Given the description of an element on the screen output the (x, y) to click on. 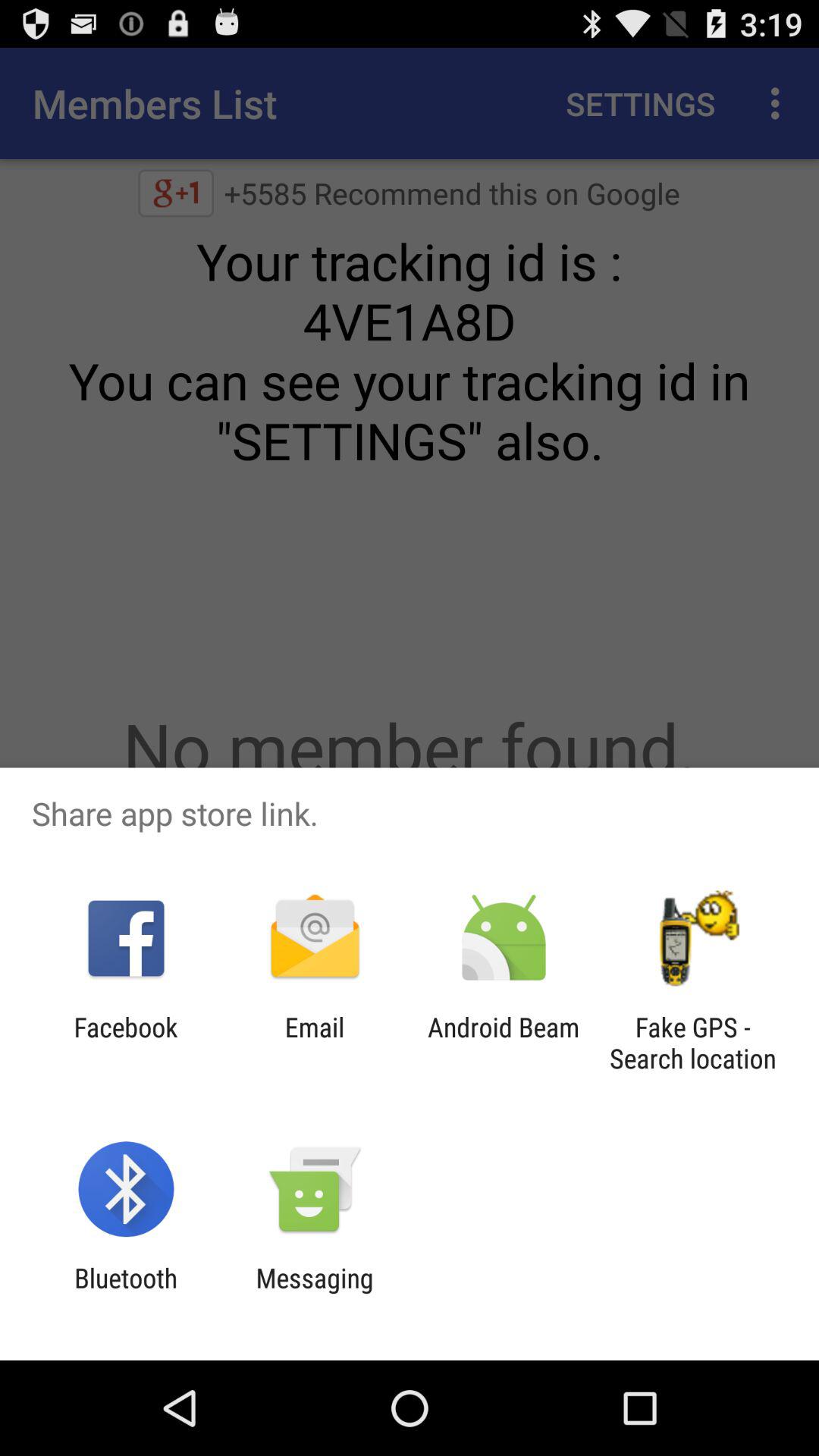
launch email item (314, 1042)
